Given the description of an element on the screen output the (x, y) to click on. 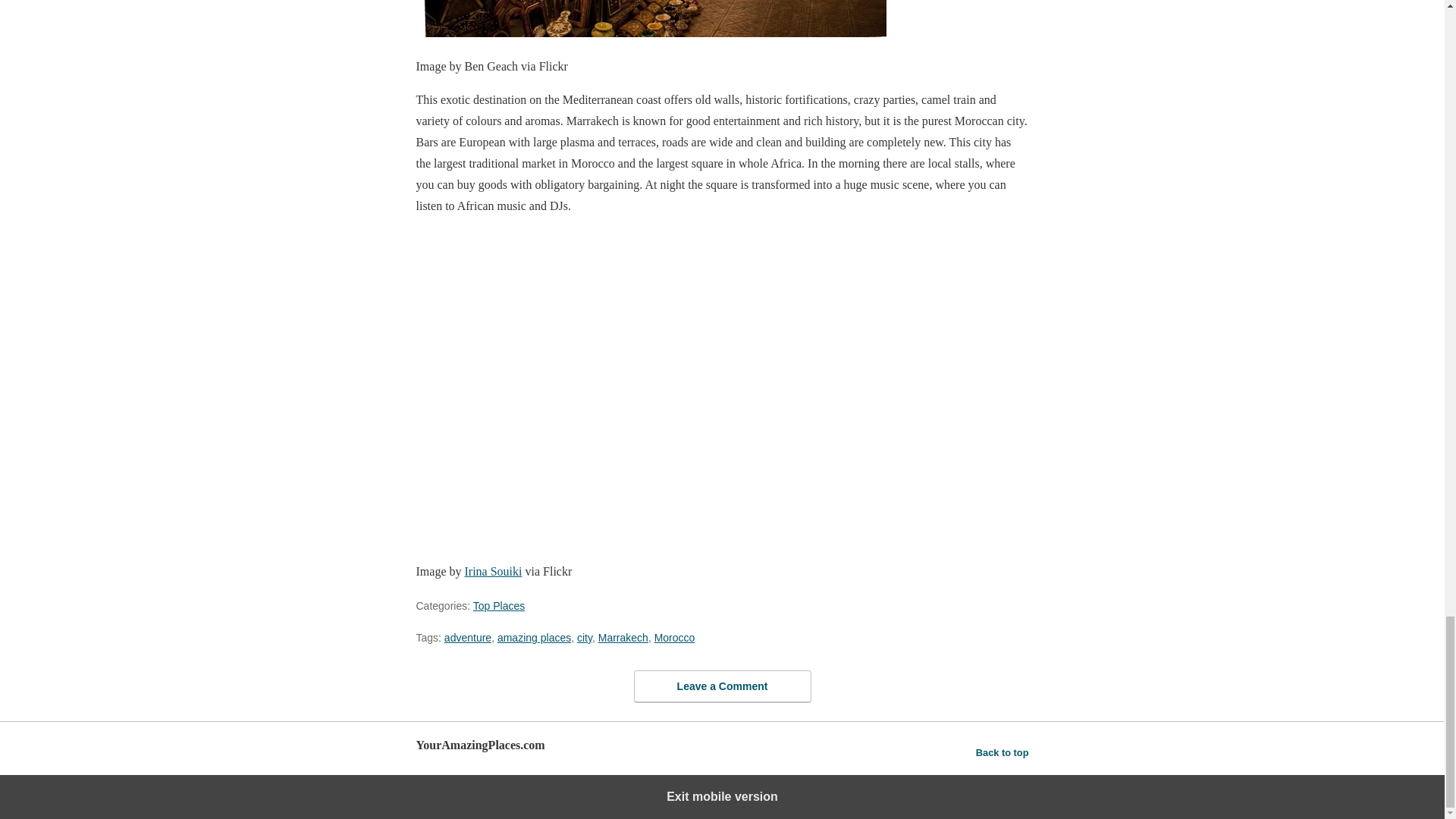
city (584, 637)
Marrakech (622, 637)
Go to Irina Souiki's photostream (492, 571)
Morocco (674, 637)
adventure (468, 637)
Irina Souiki (492, 571)
Top Places (498, 605)
Marrakech - Red City of God (649, 18)
Back to top (1002, 752)
amazing places (533, 637)
Leave a Comment (721, 686)
